Given the description of an element on the screen output the (x, y) to click on. 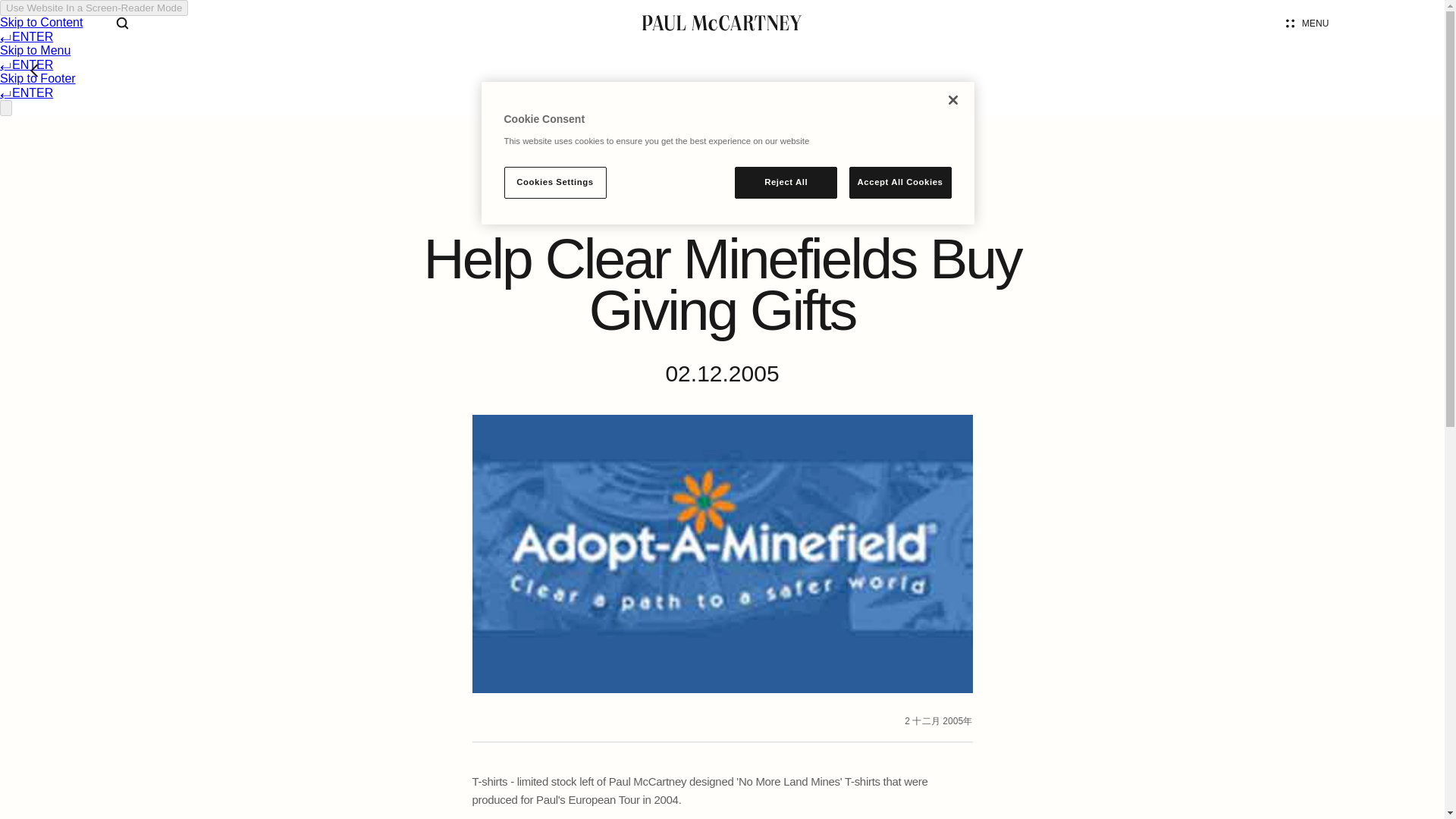
Accept All Cookies (900, 183)
Cookies Settings (554, 183)
Reject All (786, 183)
MENU (1307, 23)
